Given the description of an element on the screen output the (x, y) to click on. 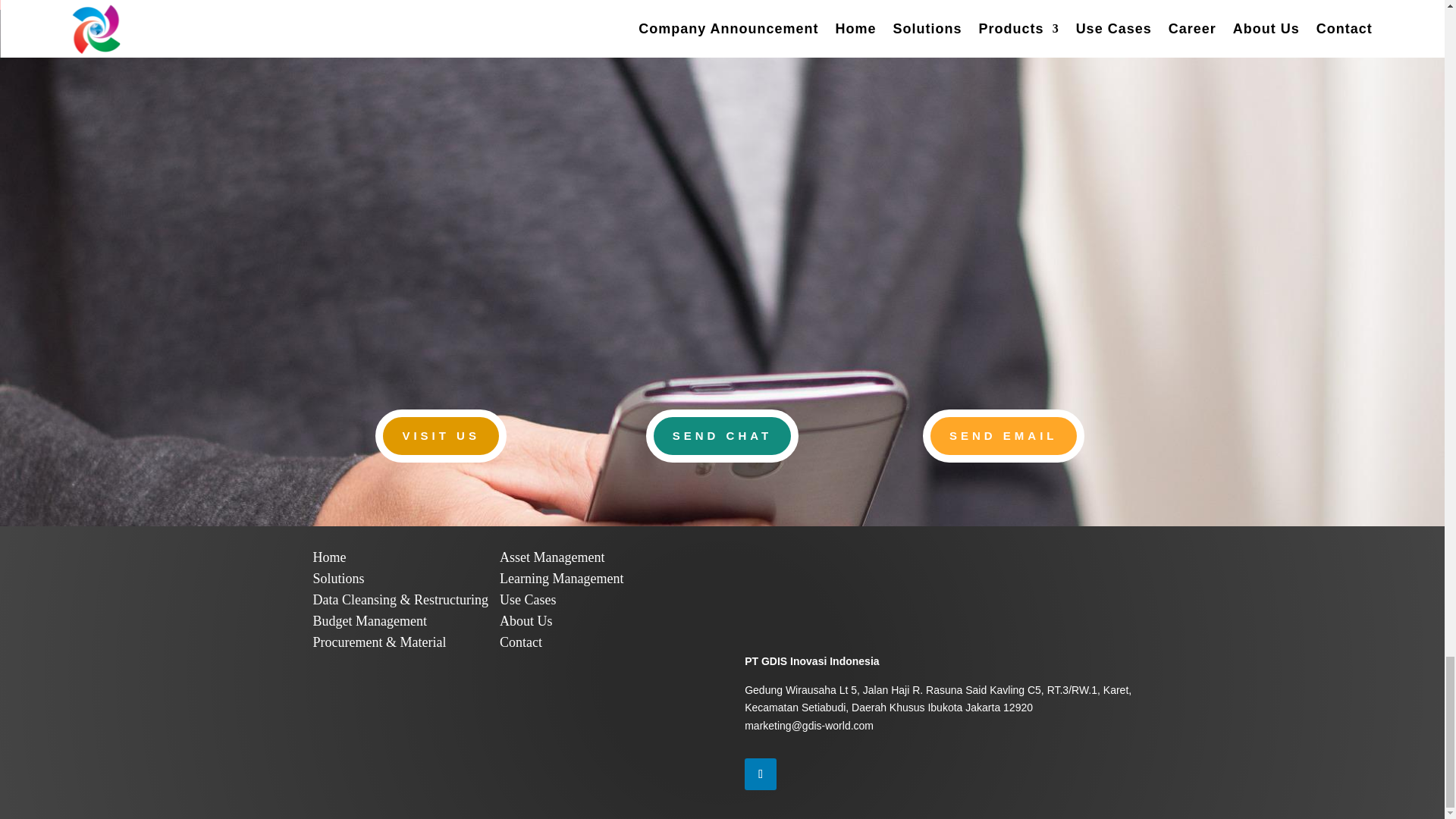
Solutions (338, 578)
Budget Management (369, 620)
Contact (520, 642)
Follow on LinkedIn (760, 774)
Hello I want to know more about GDIS products (808, 725)
SEND EMAIL (1003, 435)
PT GDIS Inovasi Indonesia (329, 557)
Home (329, 557)
VISIT US (440, 435)
SEND CHAT (721, 435)
